Given the description of an element on the screen output the (x, y) to click on. 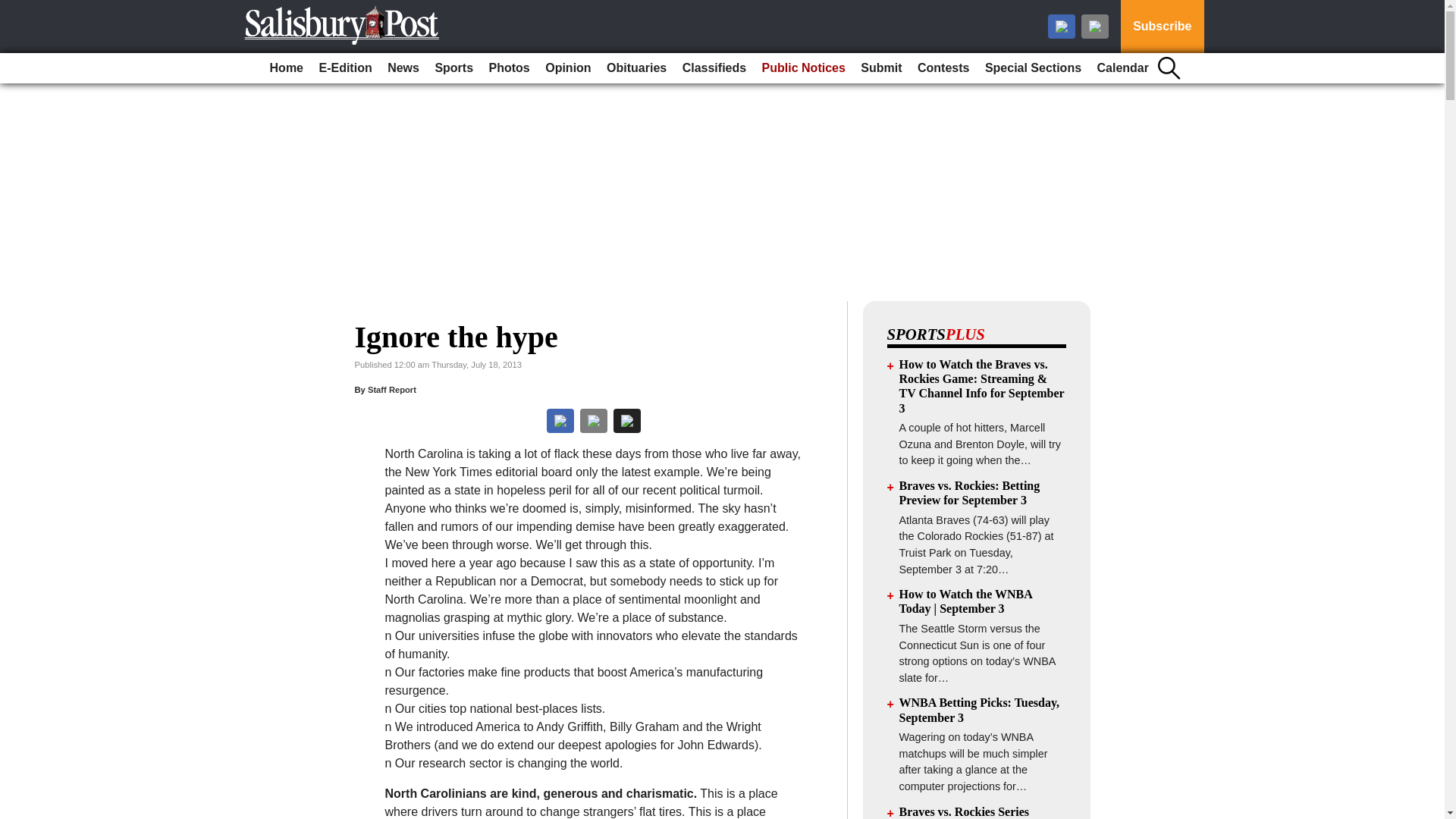
Obituaries (635, 68)
Submit (880, 68)
Classifieds (714, 68)
Home (285, 68)
News (403, 68)
E-Edition (345, 68)
Subscribe (1162, 26)
Opinion (567, 68)
